Given the description of an element on the screen output the (x, y) to click on. 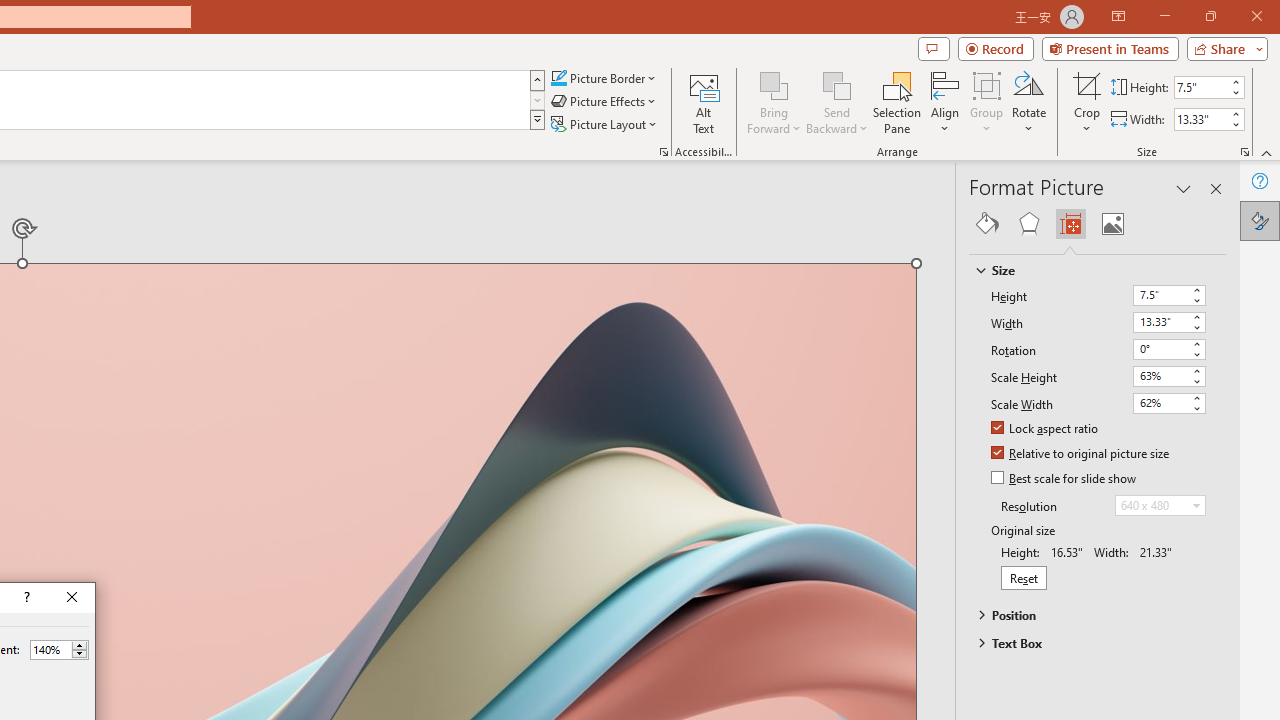
Percent (59, 650)
Picture Effects (605, 101)
Effects (1028, 223)
Picture Border (603, 78)
Crop (1087, 102)
Lock aspect ratio (1046, 429)
Scale Height (1160, 376)
Rotation (1160, 348)
Size and Position... (1244, 151)
Width (1168, 321)
Selection Pane... (897, 102)
